Given the description of an element on the screen output the (x, y) to click on. 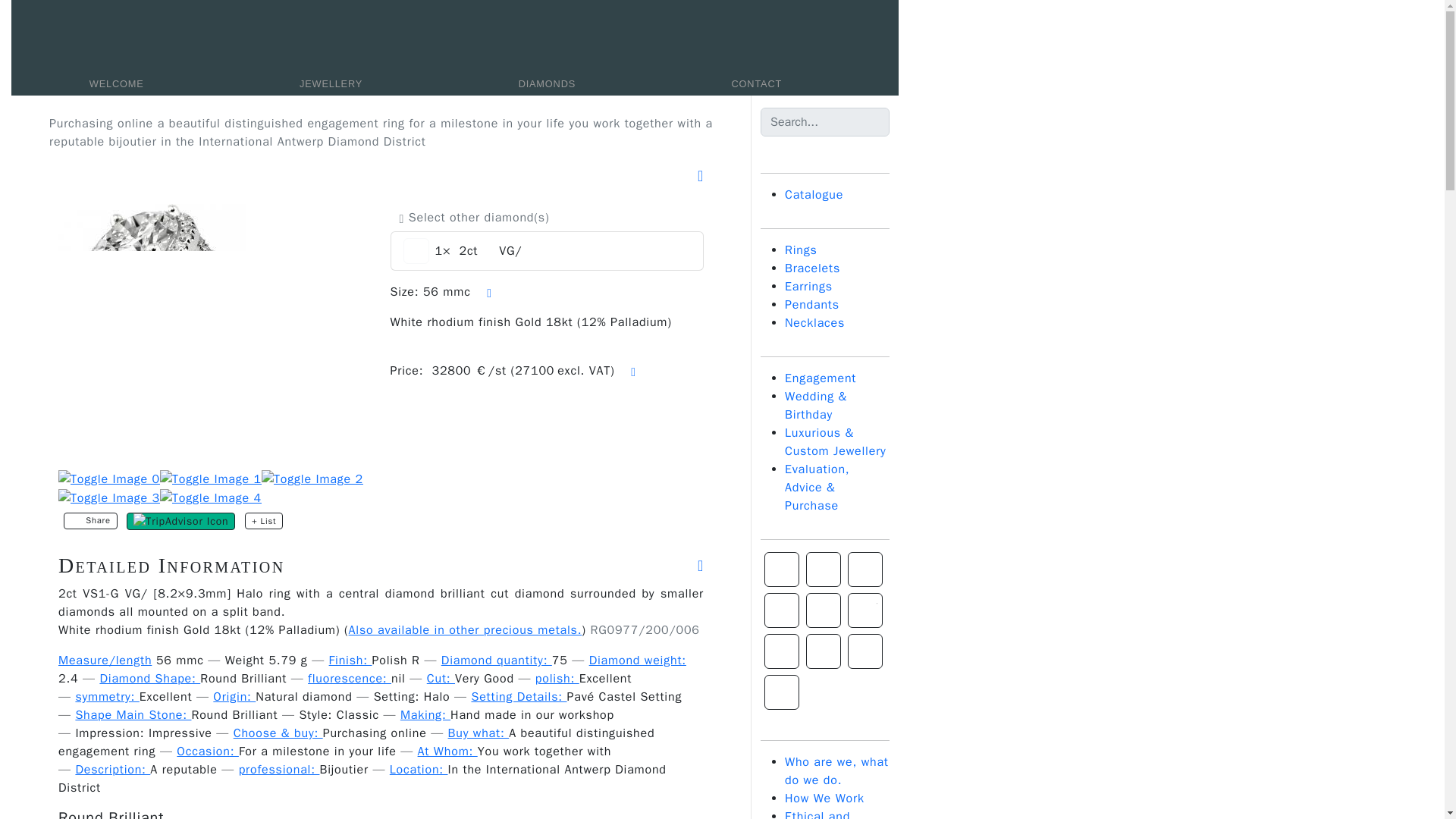
Earrings (808, 286)
Consecutive (823, 569)
Solitaire (781, 569)
Pendants (812, 304)
Other (823, 651)
Consecutive (823, 569)
Two-Stone (781, 651)
Halo (781, 610)
Invisible (864, 651)
Three-Stone (864, 610)
